Given the description of an element on the screen output the (x, y) to click on. 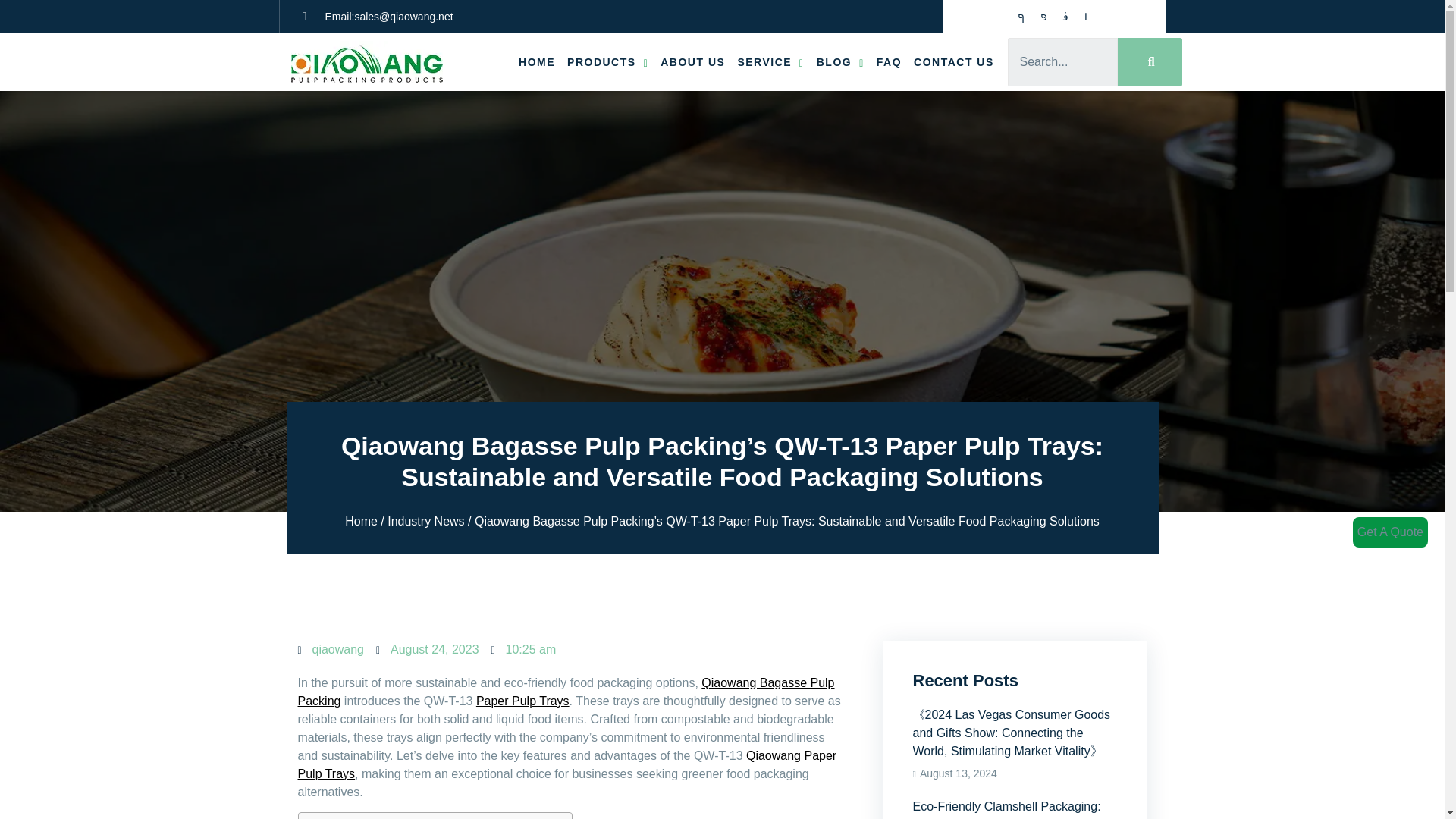
HOME (536, 61)
Paper Pulp Trays (522, 700)
PRODUCTS (606, 61)
FAQ (888, 61)
qiaowang (330, 649)
Qiaowang Bagasse Pulp Packing (565, 691)
Qiaowang Paper Pulp Trays (566, 764)
Search (1062, 61)
SERVICE (769, 61)
Industry News (425, 521)
